Given the description of an element on the screen output the (x, y) to click on. 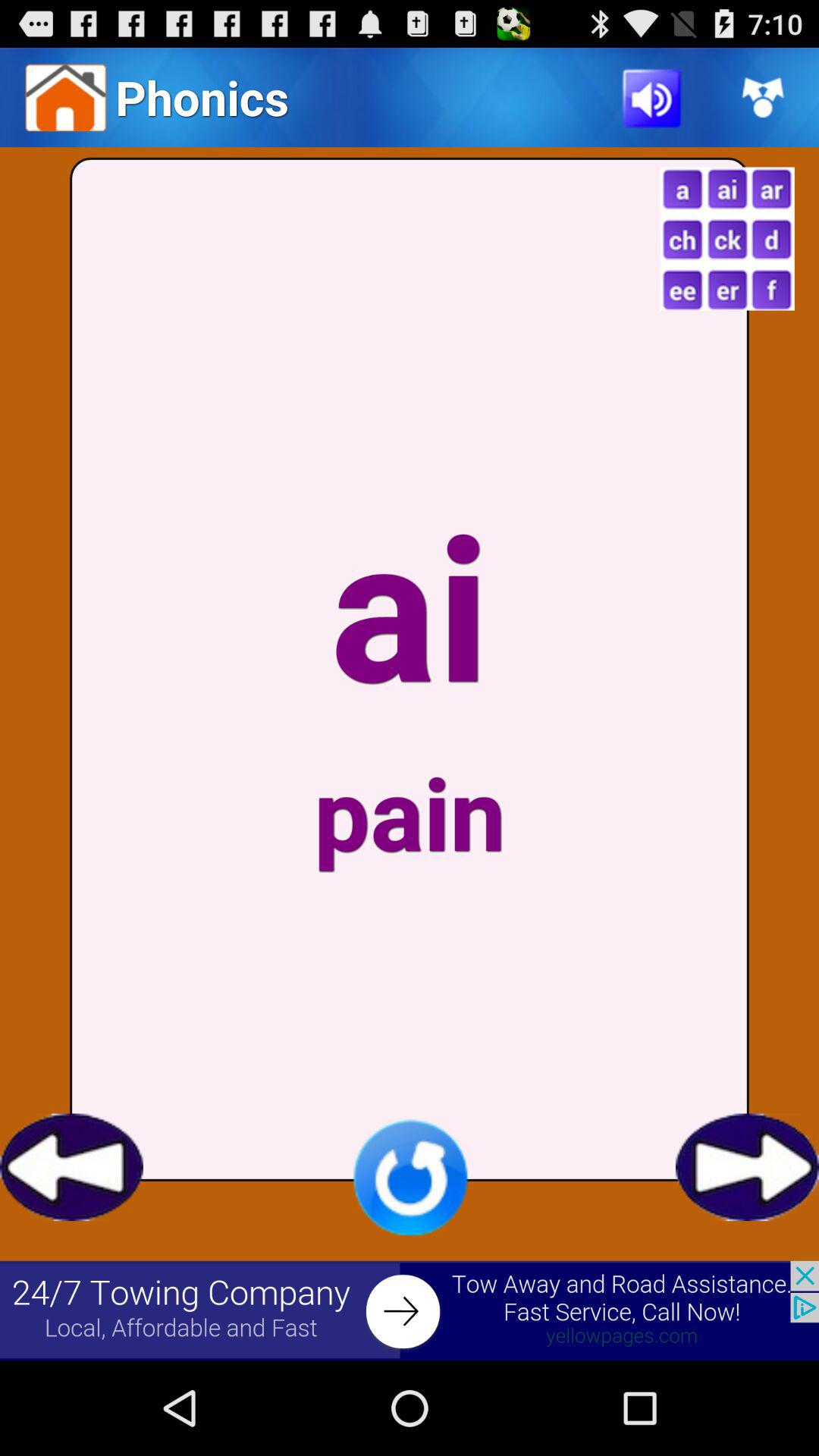
reload (409, 1177)
